Given the description of an element on the screen output the (x, y) to click on. 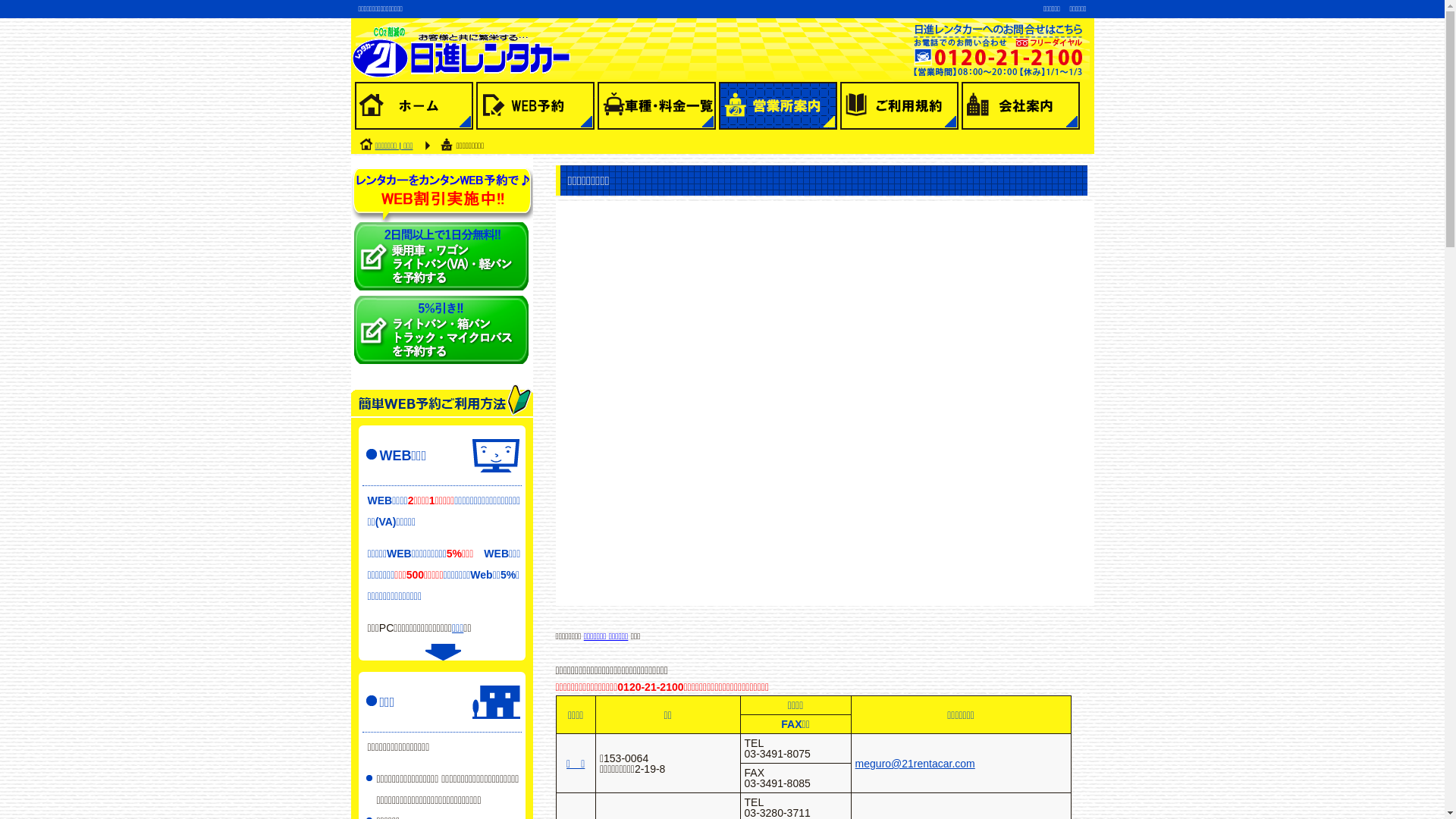
meguro@21rentacar.com Element type: text (915, 763)
